Given the description of an element on the screen output the (x, y) to click on. 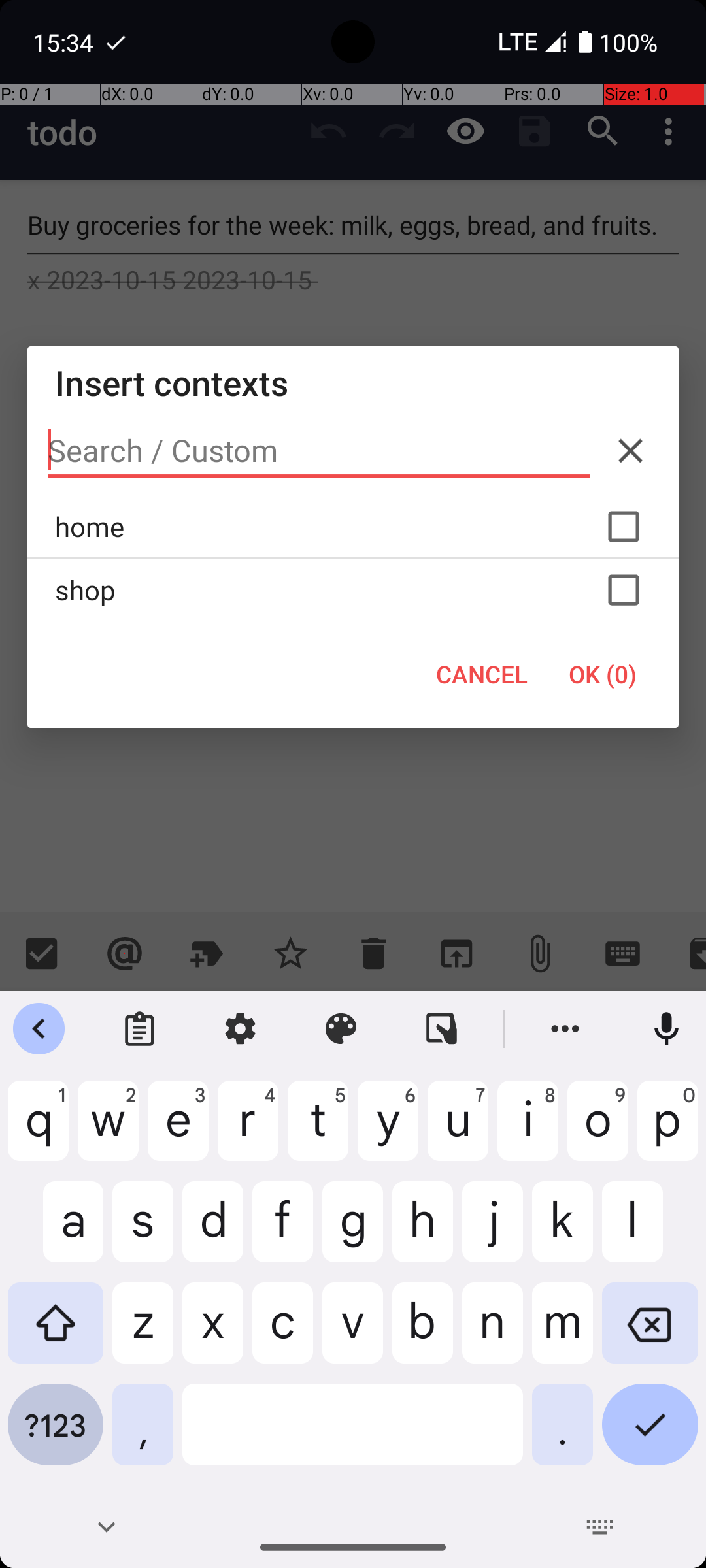
Insert contexts Element type: android.widget.TextView (352, 382)
Search / Custom Element type: android.widget.EditText (318, 450)
home Element type: android.widget.CheckedTextView (352, 526)
shop Element type: android.widget.CheckedTextView (352, 589)
